Given the description of an element on the screen output the (x, y) to click on. 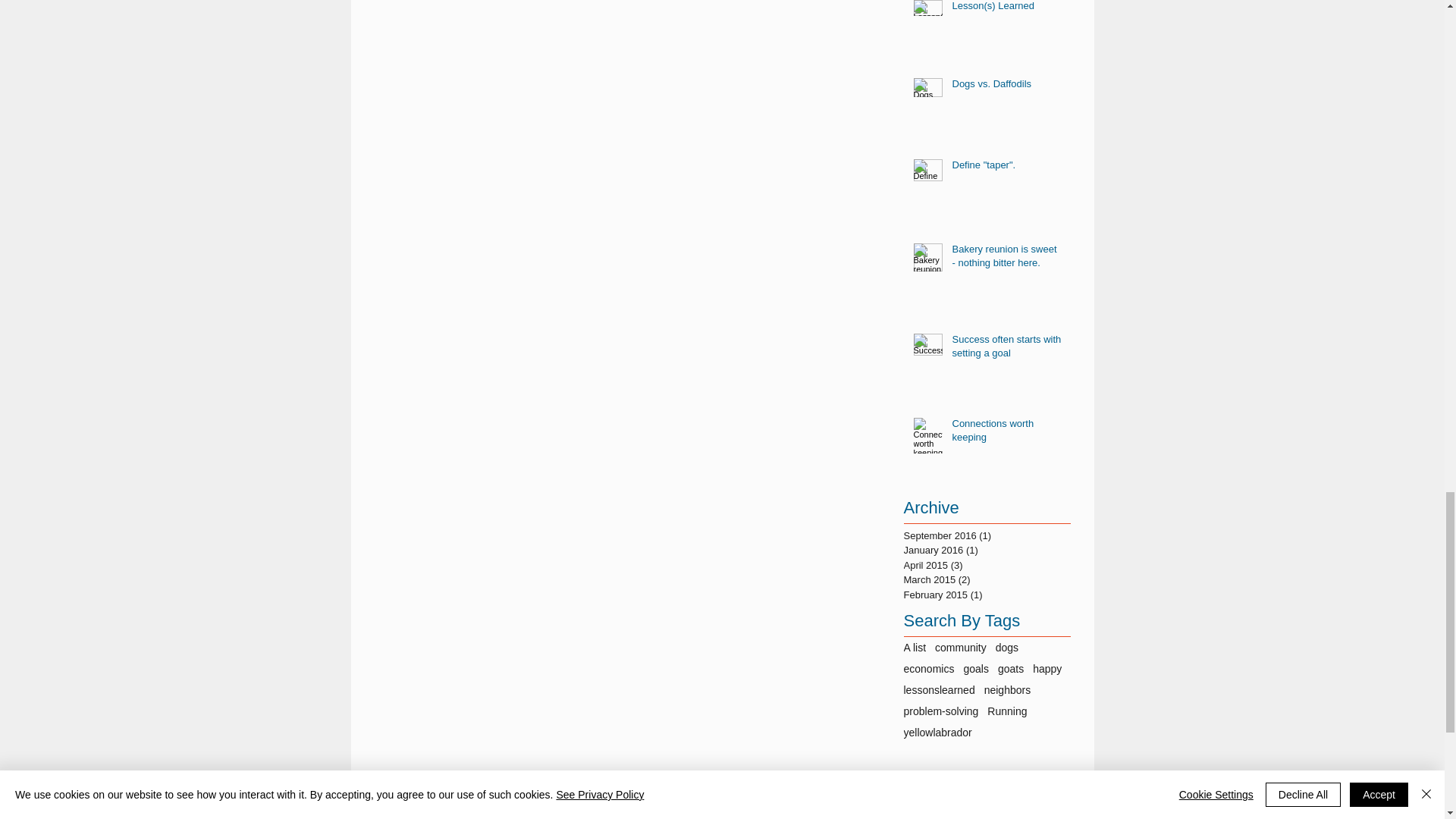
Define "taper". (1006, 168)
Bakery reunion is sweet - nothing bitter here. (1006, 259)
goats (1010, 668)
Dogs vs. Daffodils (1006, 86)
goals (975, 668)
Connections worth keeping (1006, 433)
economics (929, 668)
community (960, 647)
A list (915, 647)
Success often starts with setting a goal (1006, 349)
